Given the description of an element on the screen output the (x, y) to click on. 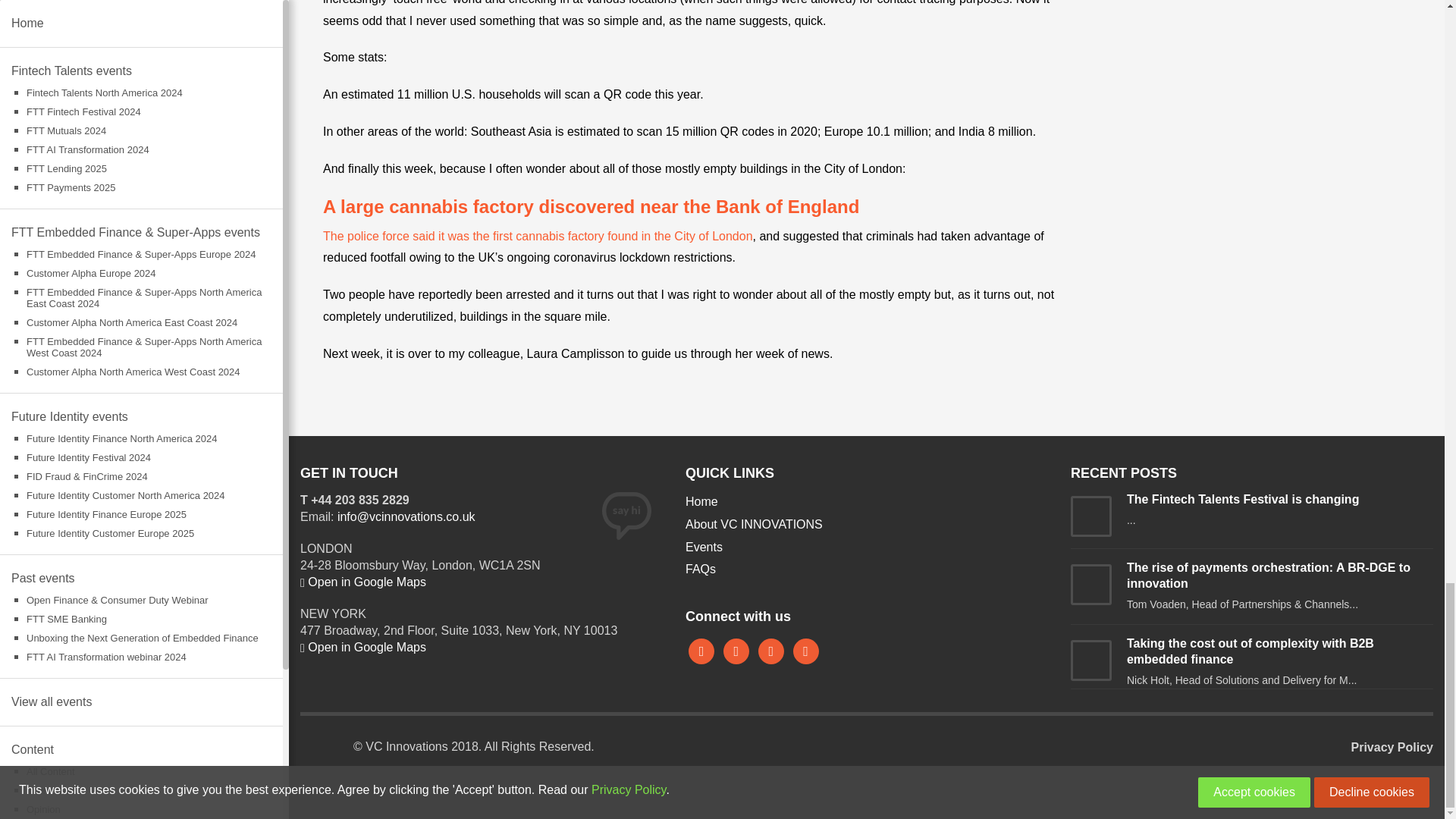
Facebook (701, 649)
Twitter (736, 649)
Default Label (805, 649)
Instagram (771, 649)
The rise of payments orchestration: A BR-DGE to innovation (1268, 575)
The Fintech Talents Festival is changing (1242, 499)
